Given the description of an element on the screen output the (x, y) to click on. 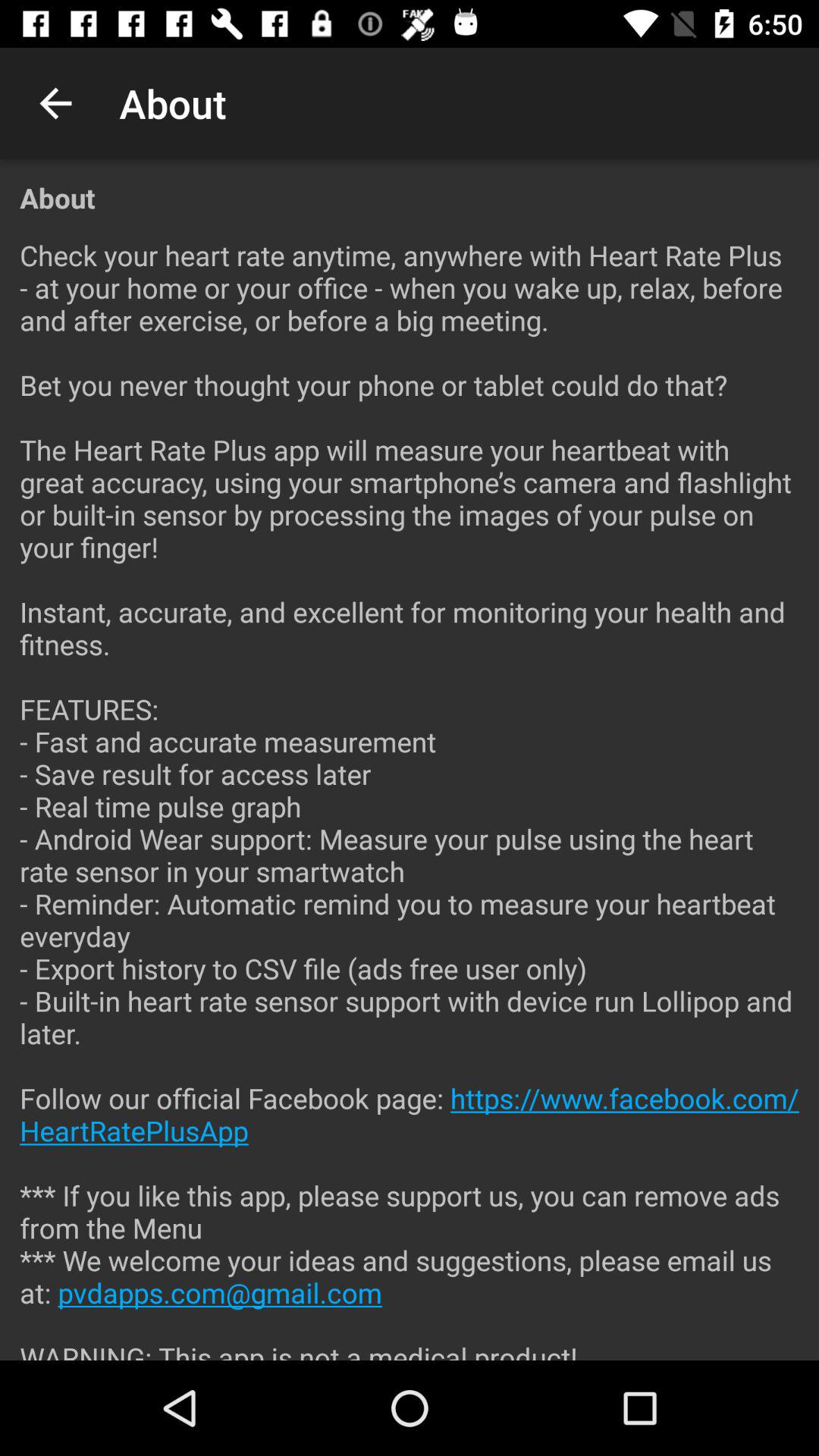
tap item above the about (55, 103)
